Given the description of an element on the screen output the (x, y) to click on. 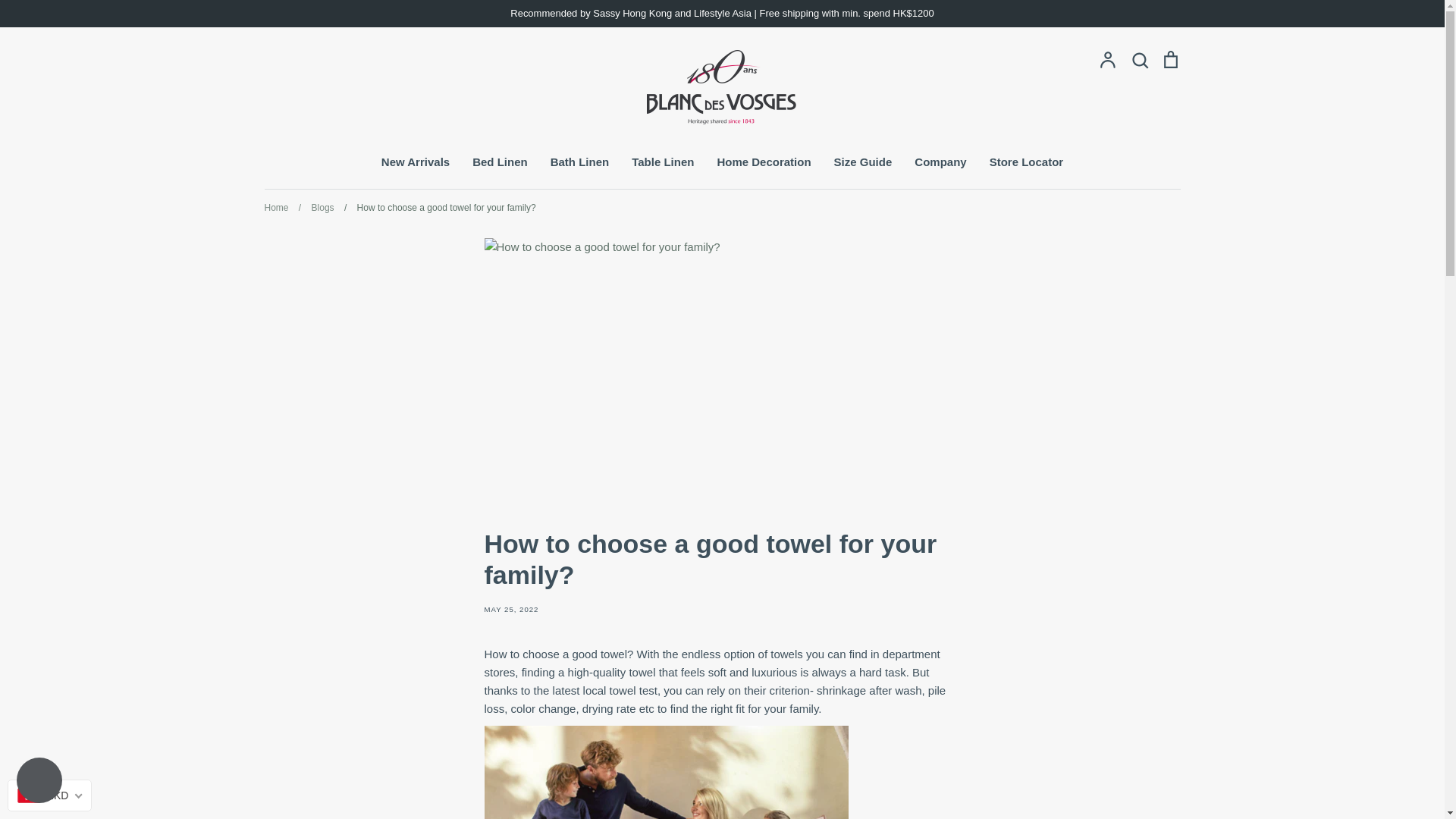
New Arrivals (415, 161)
Shopify online store chat (38, 781)
Cart (1169, 59)
Bath Linen (580, 161)
Search (1139, 59)
Account (1107, 59)
Bed Linen (499, 161)
